Given the description of an element on the screen output the (x, y) to click on. 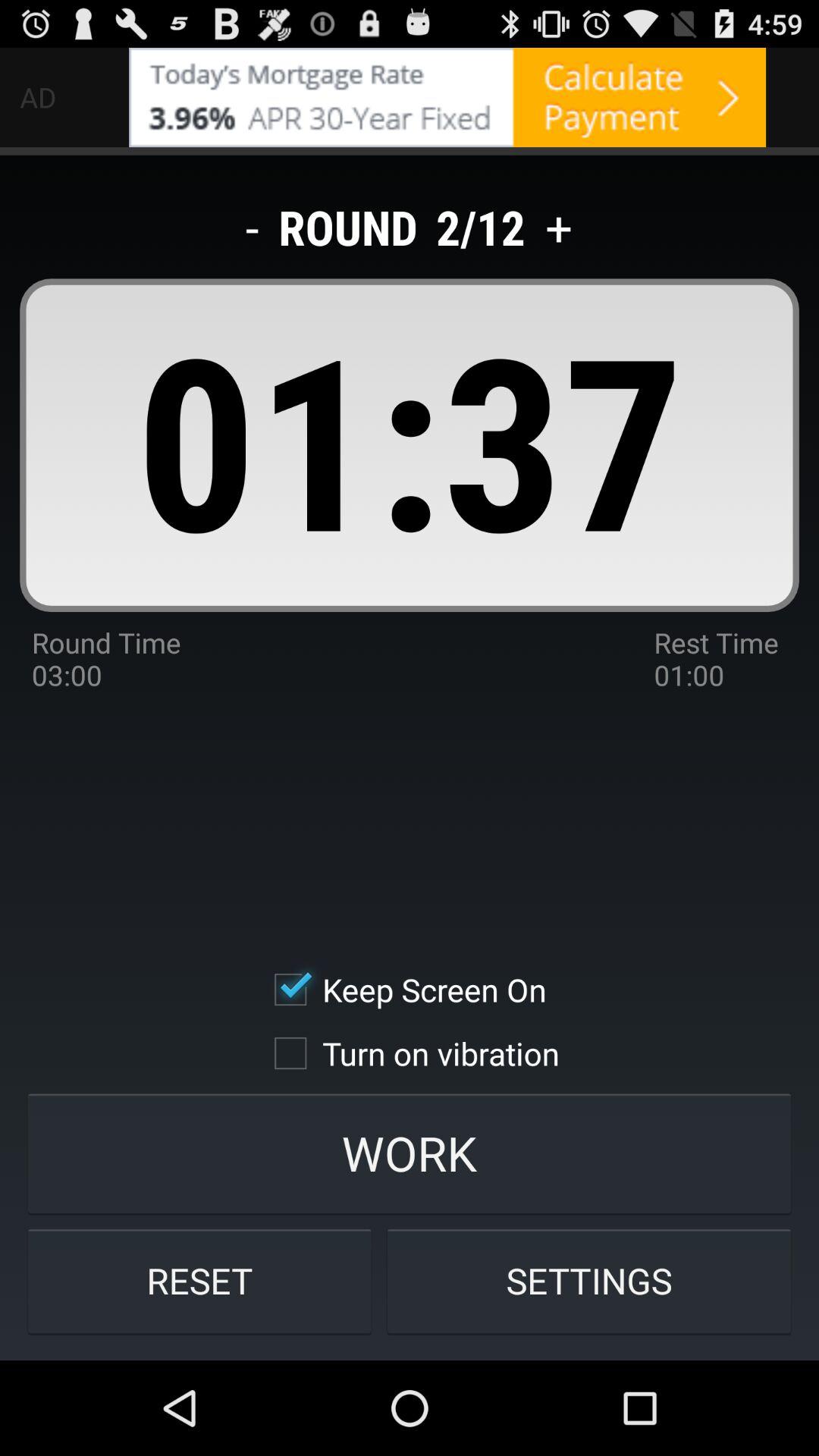
advertisement banner (447, 97)
